Given the description of an element on the screen output the (x, y) to click on. 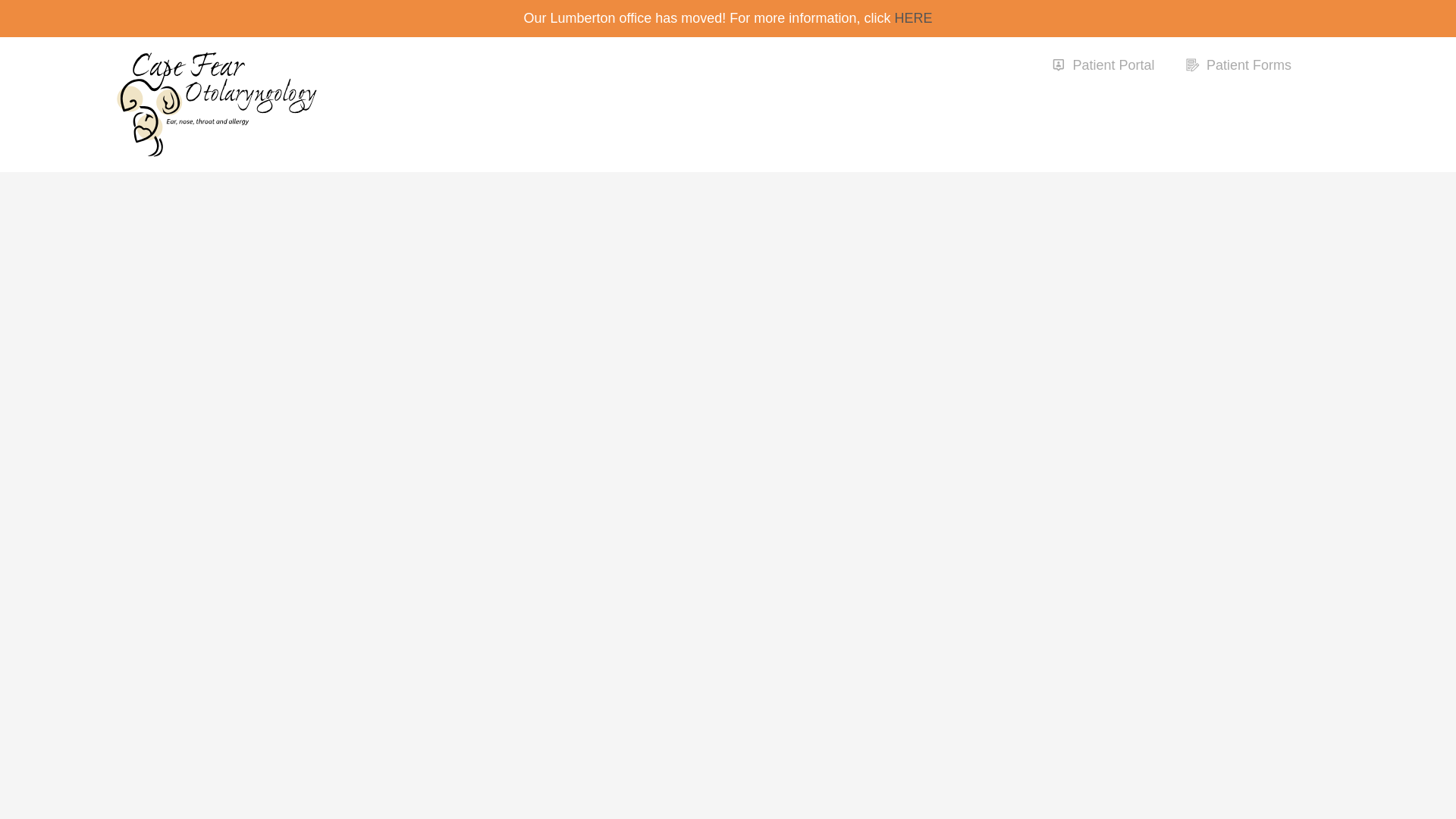
HERE (912, 17)
Patient Forms (1238, 64)
Patient Portal (1102, 64)
